Given the description of an element on the screen output the (x, y) to click on. 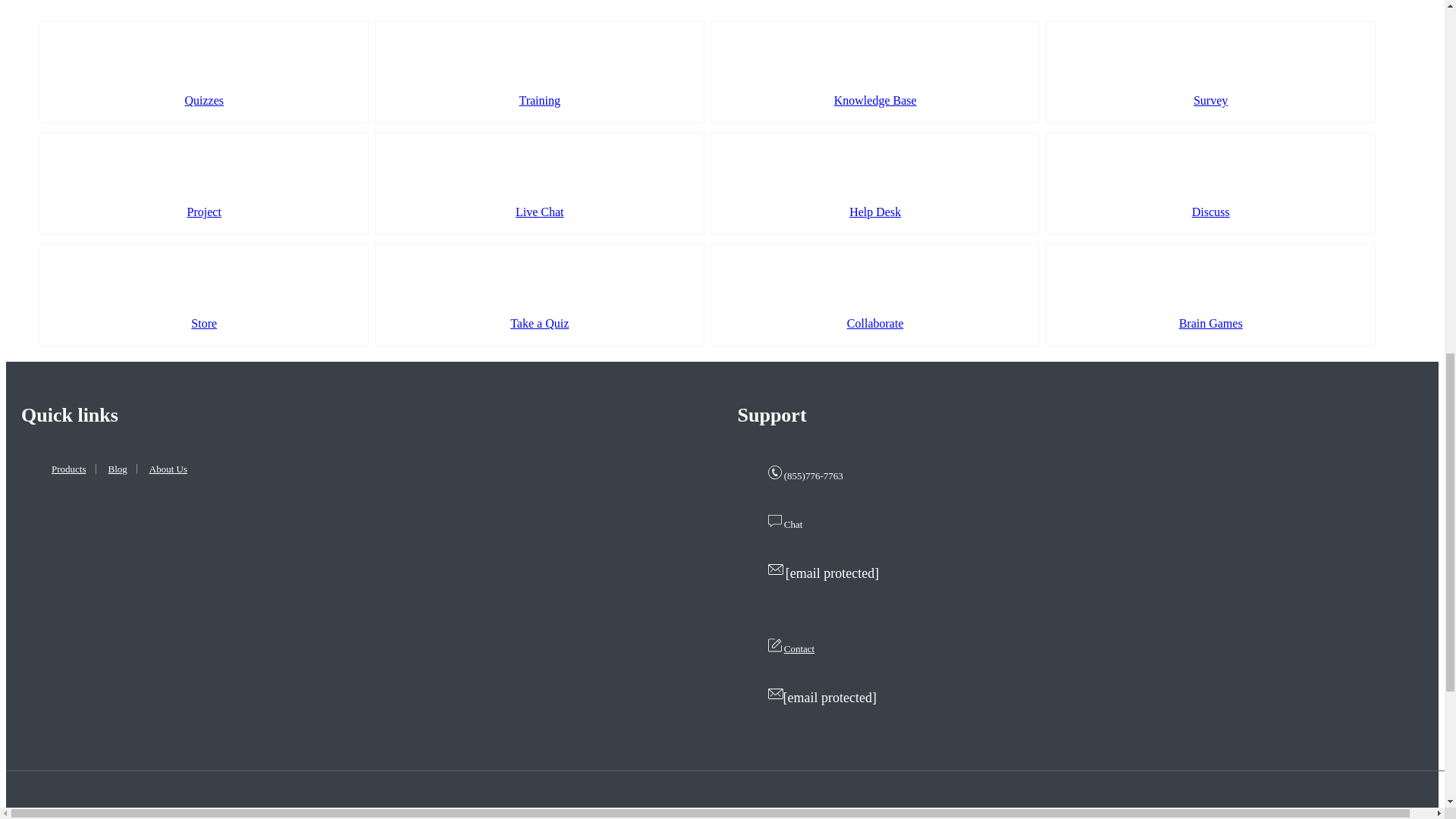
Store (203, 294)
Follow us on facebook (1386, 815)
Discuss (1209, 183)
contact (773, 644)
Help Desk (874, 183)
Live Chat (538, 183)
Follow us on linkedIn (1318, 815)
Follow us on twitter (1352, 815)
mail (775, 694)
mail (775, 569)
Project (203, 183)
call (773, 472)
chat (773, 520)
Follow us on Youtube (1419, 815)
Knowledge Base (874, 71)
